Given the description of an element on the screen output the (x, y) to click on. 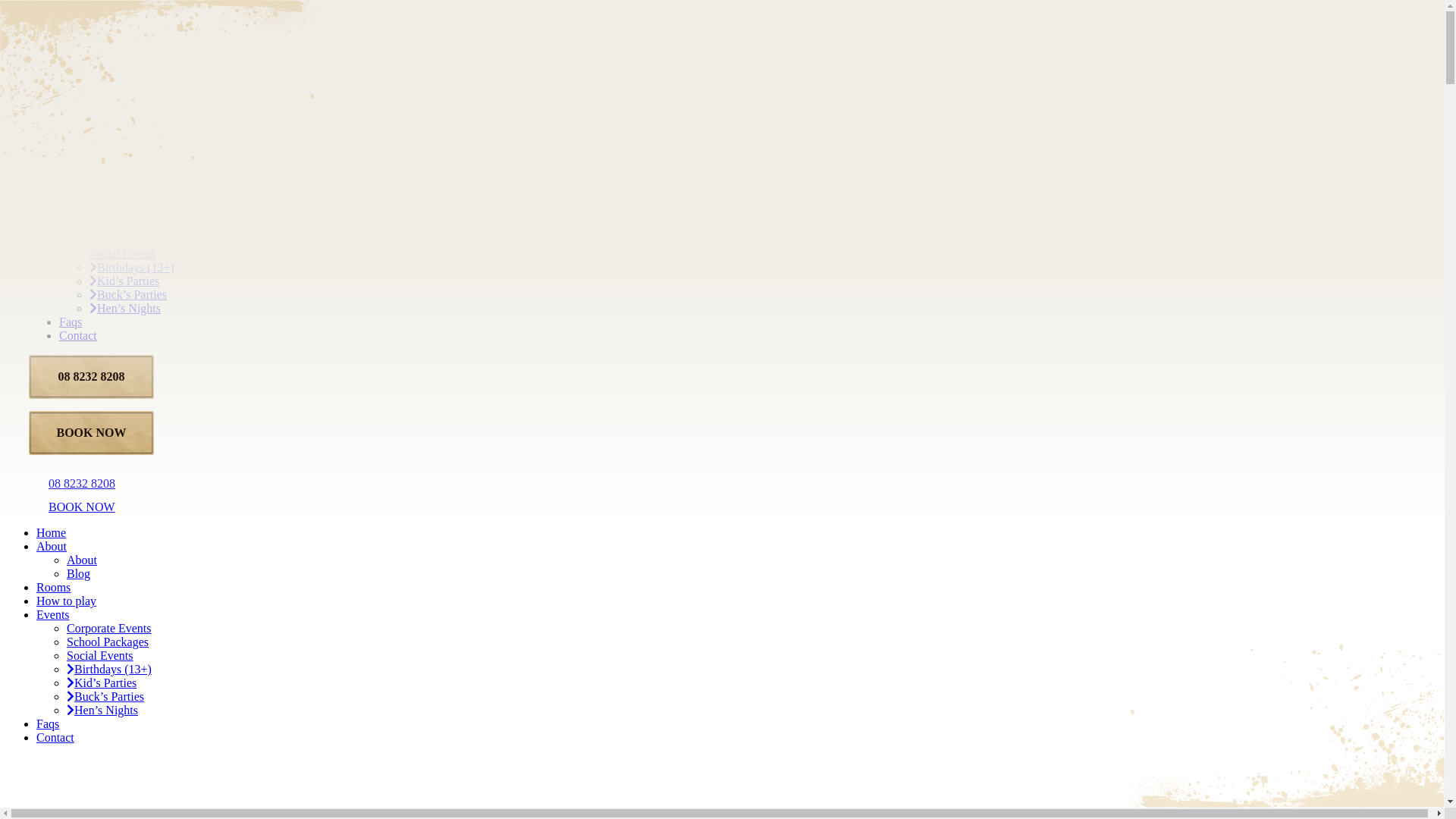
Blog Element type: text (100, 159)
Birthdays (13+) Element type: text (108, 668)
Home Element type: text (73, 118)
Events Element type: text (75, 212)
Blog Element type: text (78, 573)
How to play Element type: text (66, 600)
Skip to content Element type: text (5, 5)
Social Events Element type: text (122, 253)
Rooms Element type: text (53, 586)
08 8232 8208 Element type: text (71, 482)
About Element type: text (81, 559)
Social Events Element type: text (99, 655)
About Element type: text (104, 145)
Corporate Events Element type: text (108, 627)
Faqs Element type: text (70, 321)
Home Element type: text (50, 532)
Corporate Events Element type: text (131, 225)
About Element type: text (51, 545)
BOOK NOW Element type: text (71, 506)
School Packages Element type: text (130, 239)
School Packages Element type: text (107, 641)
Contact Element type: text (78, 335)
Birthdays (13+) Element type: text (131, 266)
Rooms Element type: text (76, 186)
How to play Element type: text (89, 172)
About Element type: text (74, 131)
BOOK NOW Element type: text (90, 433)
Events Element type: text (52, 614)
Faqs Element type: text (47, 723)
Contact Element type: text (55, 737)
08 8232 8208 Element type: text (90, 376)
